Given the description of an element on the screen output the (x, y) to click on. 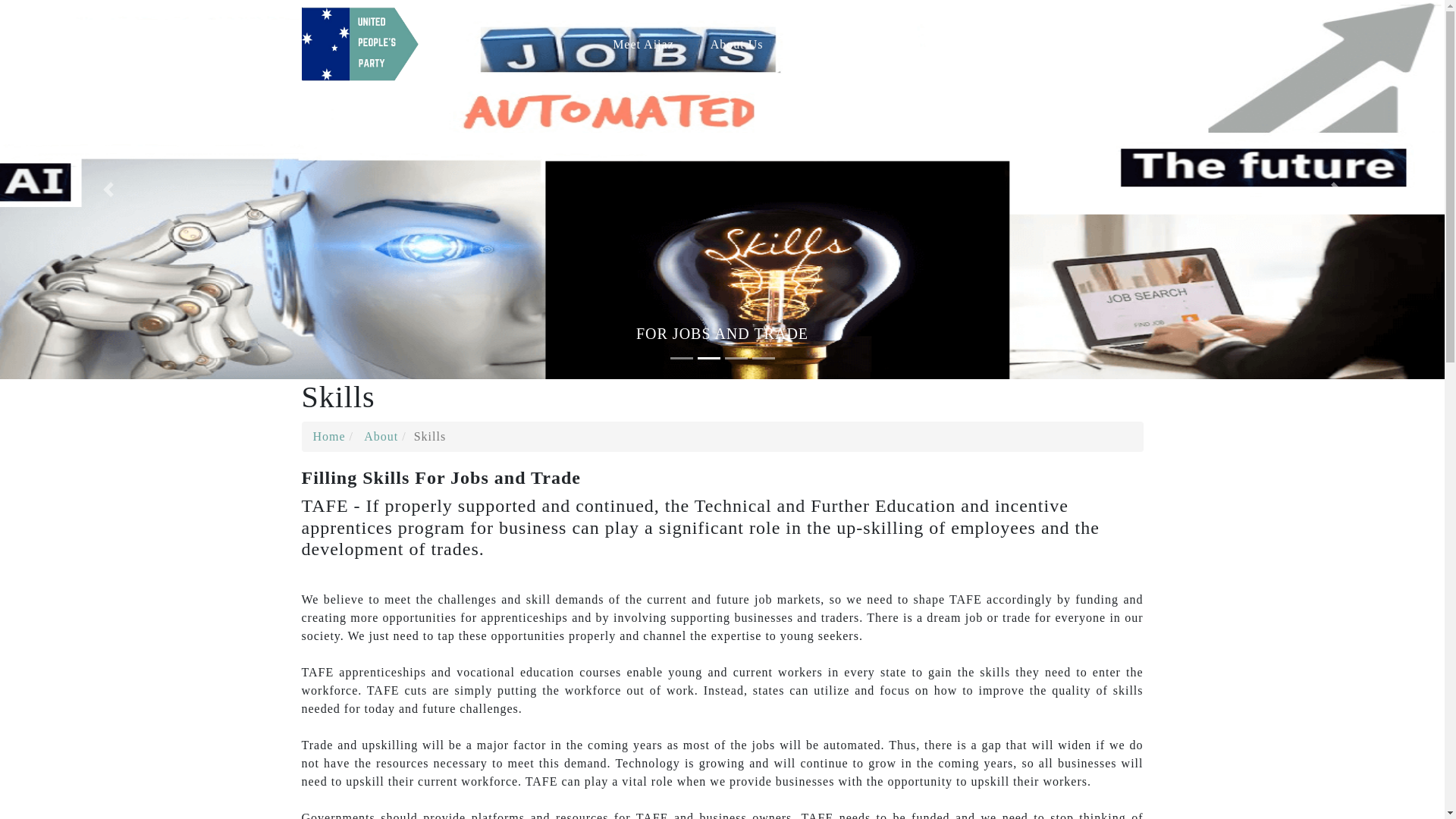
About Us (737, 43)
Donate (1104, 43)
Previous (108, 189)
Contact US (831, 43)
Join Us (1027, 43)
Donate (1104, 43)
About Us (737, 43)
Campaigns (935, 43)
About (380, 436)
Join Us (1027, 43)
Campaigns (935, 43)
Meet Aijaz (643, 43)
Meet Aijaz (643, 43)
Contact US (831, 43)
Home (329, 436)
